Given the description of an element on the screen output the (x, y) to click on. 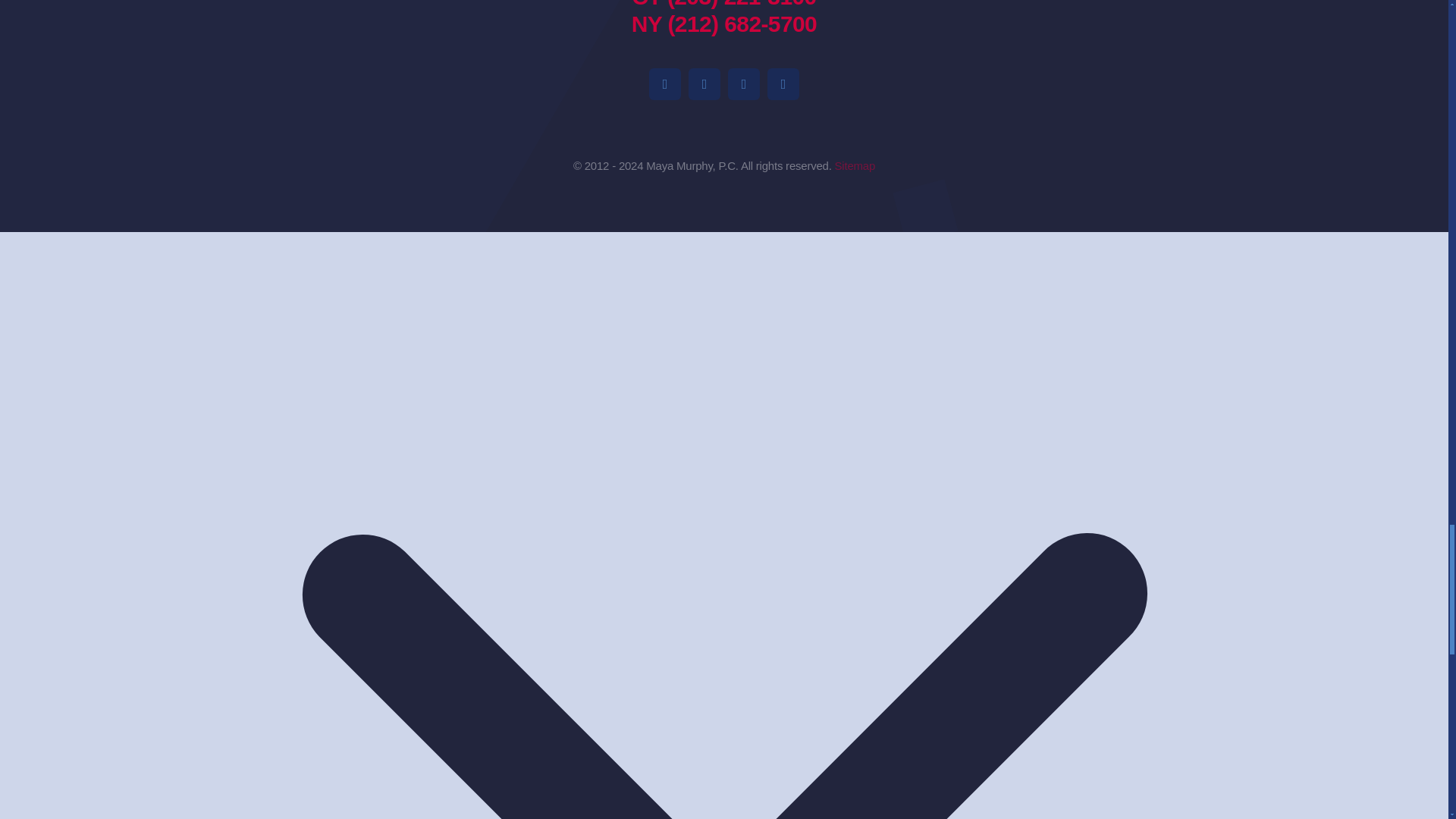
Twitter (783, 83)
YouTube (744, 83)
Instagram (704, 83)
Facebook (665, 83)
